Given the description of an element on the screen output the (x, y) to click on. 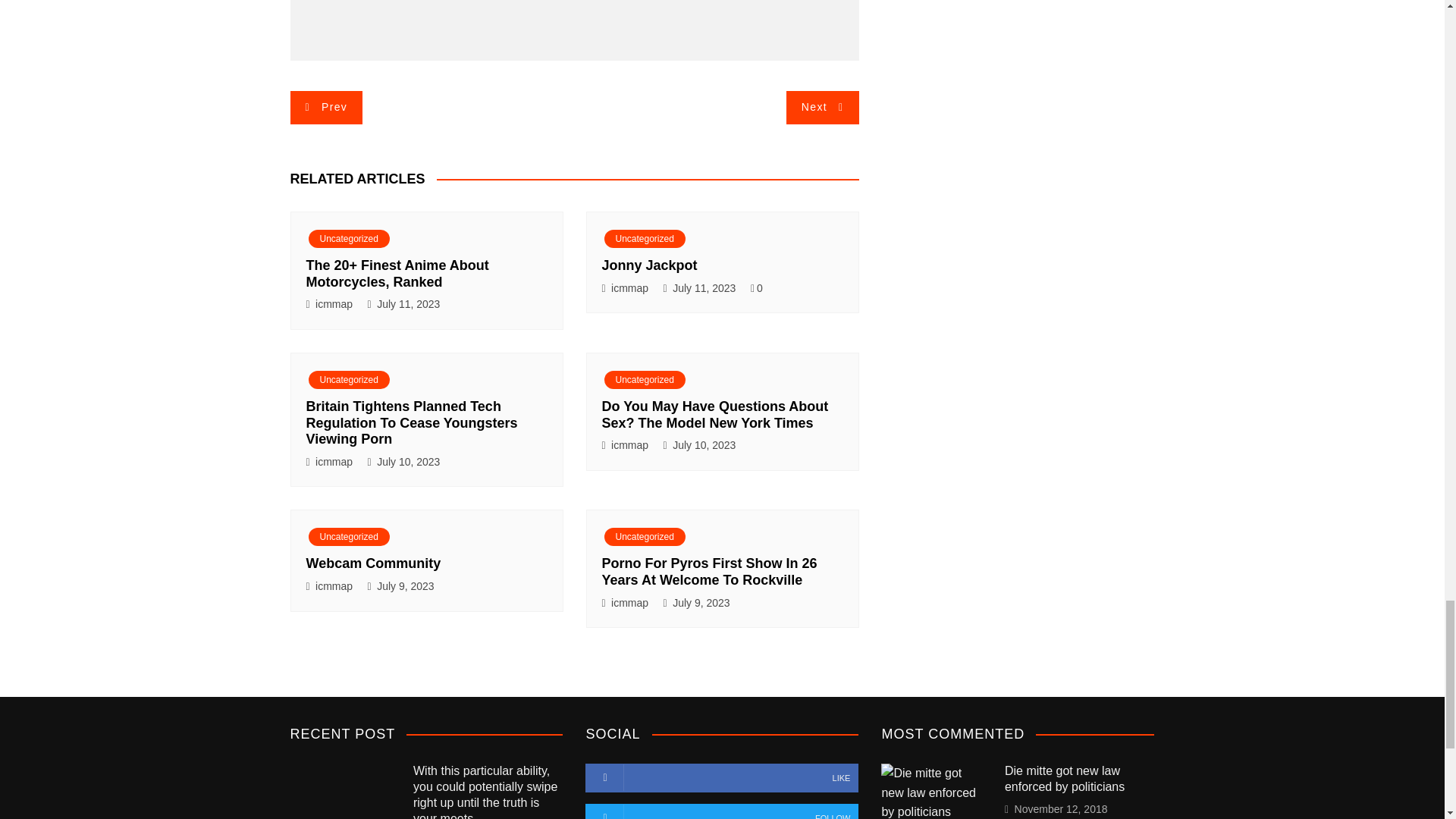
Next (822, 106)
July 11, 2023 (408, 303)
Uncategorized (347, 239)
icmmap (629, 288)
Uncategorized (644, 239)
Jonny Jackpot (649, 264)
Prev (325, 106)
icmmap (333, 303)
